Given the description of an element on the screen output the (x, y) to click on. 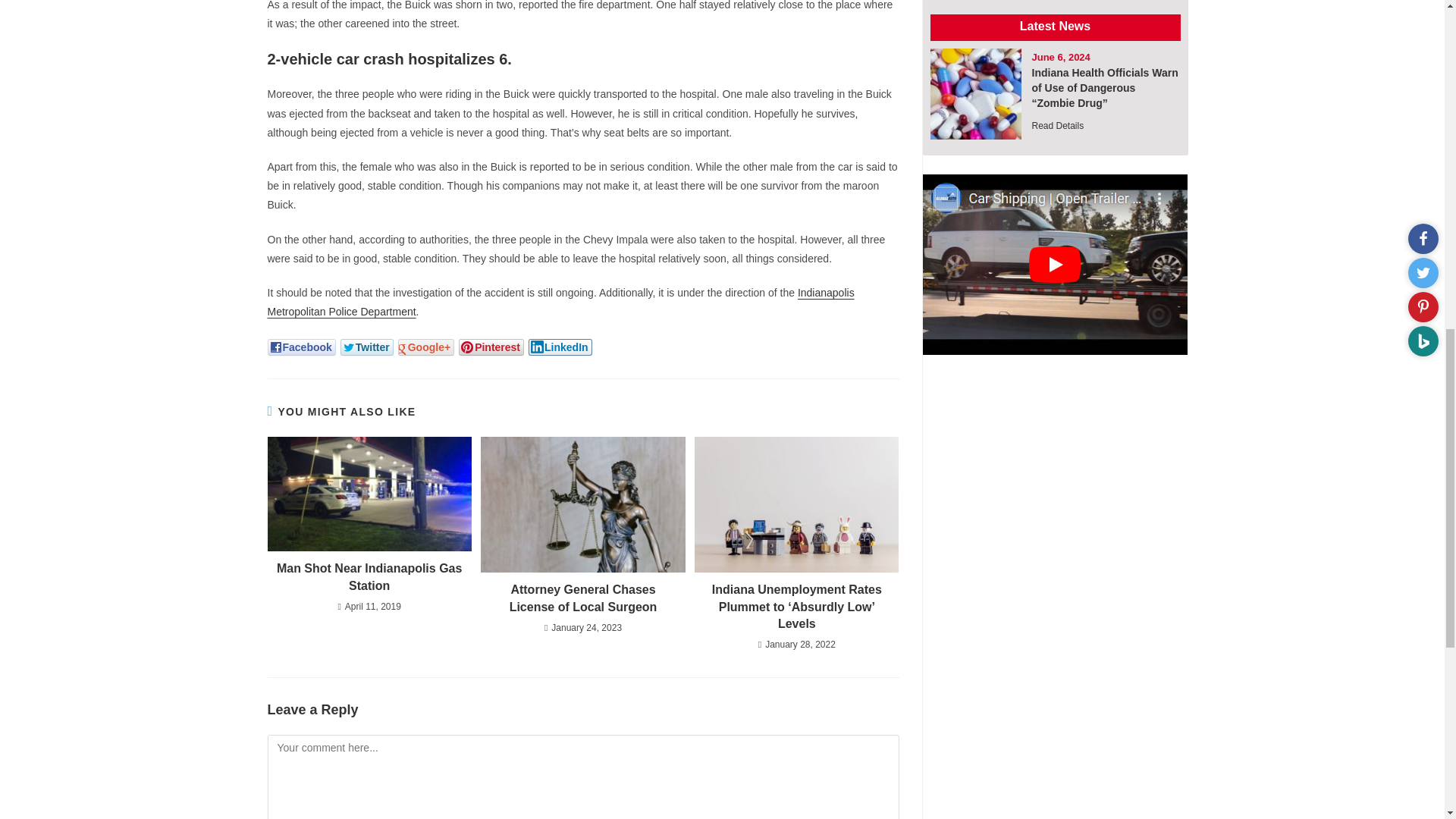
Share link on LinkedIn (560, 347)
Share link on Twitter (366, 347)
Share image on Pinterest (491, 347)
Share link on Facebook (300, 347)
